Given the description of an element on the screen output the (x, y) to click on. 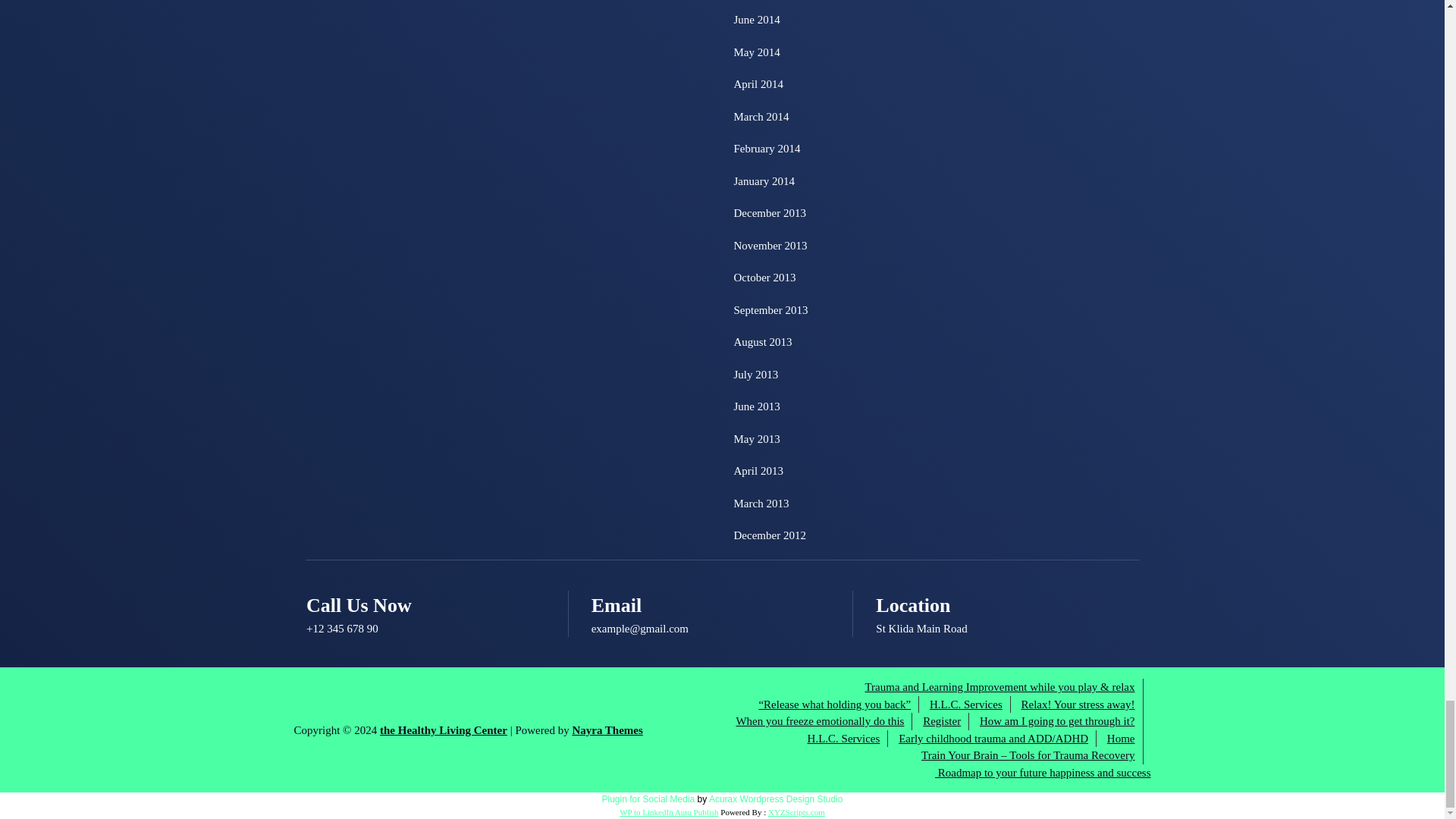
H.L.C. Services (966, 704)
Activate your energy for Life (834, 704)
When you freeze emotionally do this (819, 721)
H.L.C. Services (844, 738)
How am I going to get through it? (1057, 721)
Register (941, 721)
Relax and help the planet (1078, 704)
WP to LinkedIn Auto Publish (668, 811)
Home (1120, 738)
